Given the description of an element on the screen output the (x, y) to click on. 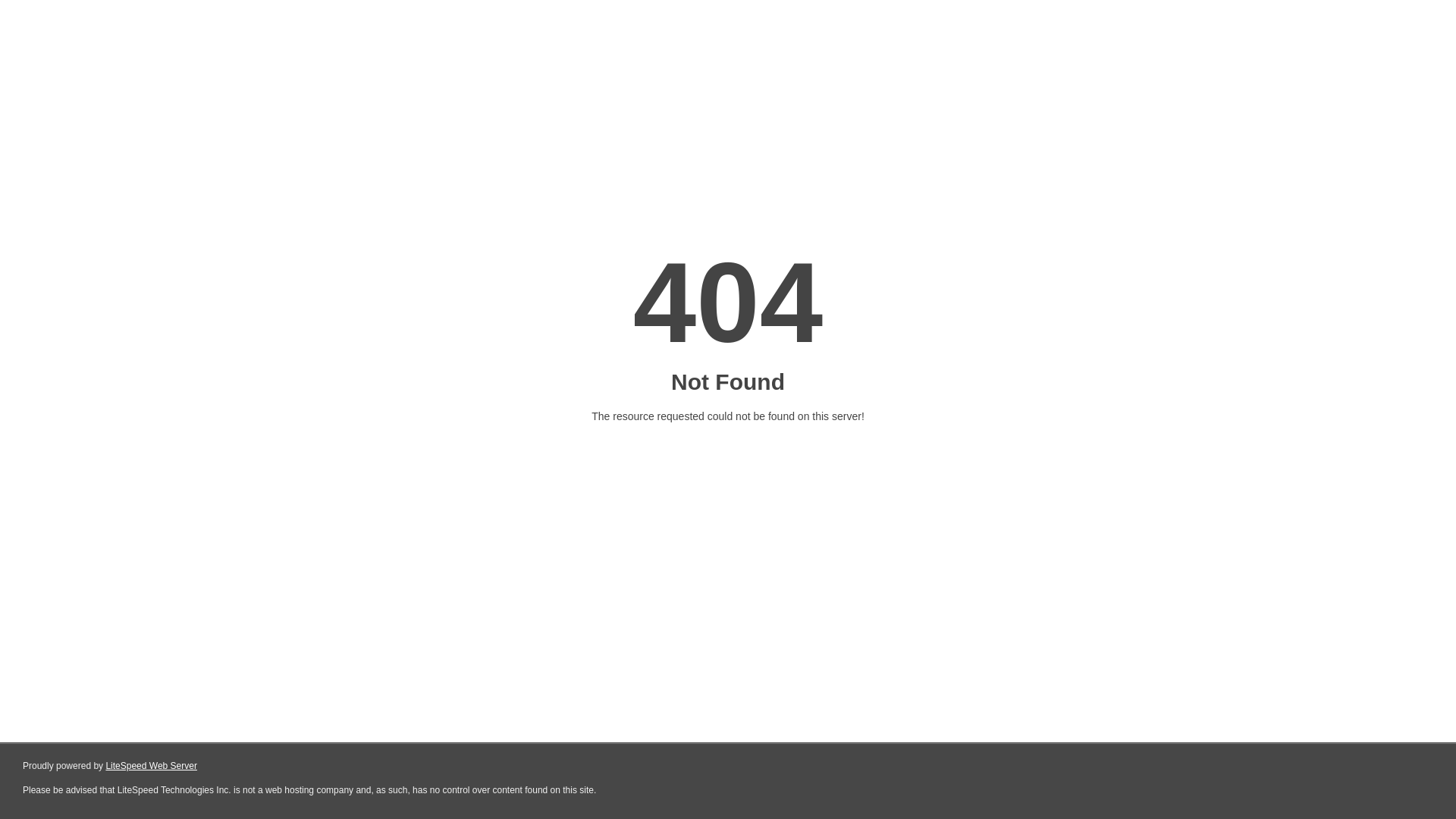
LiteSpeed Web Server Element type: text (151, 765)
